Given the description of an element on the screen output the (x, y) to click on. 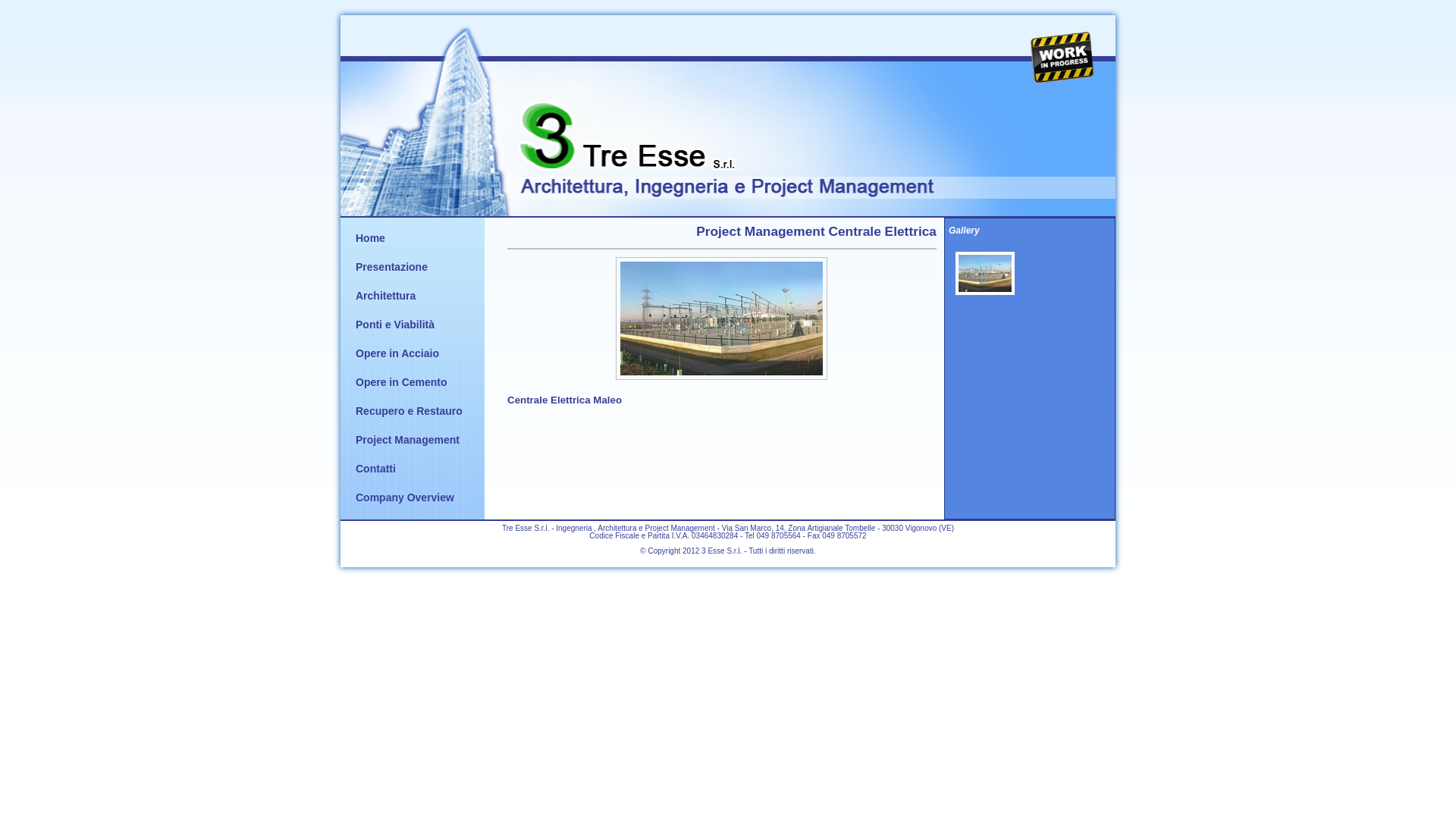
Opere in Acciaio Element type: text (397, 353)
Foto Project Management Centrale Elettrica di Maleo Element type: hover (984, 272)
Presentazione Element type: text (391, 266)
Recupero e Restauro Element type: text (408, 410)
Project Management Element type: text (407, 439)
Home Element type: text (370, 238)
Company Overview Element type: text (404, 497)
Architettura Element type: text (385, 295)
Contatti Element type: text (375, 468)
Opere in Cemento Element type: text (401, 382)
